Given the description of an element on the screen output the (x, y) to click on. 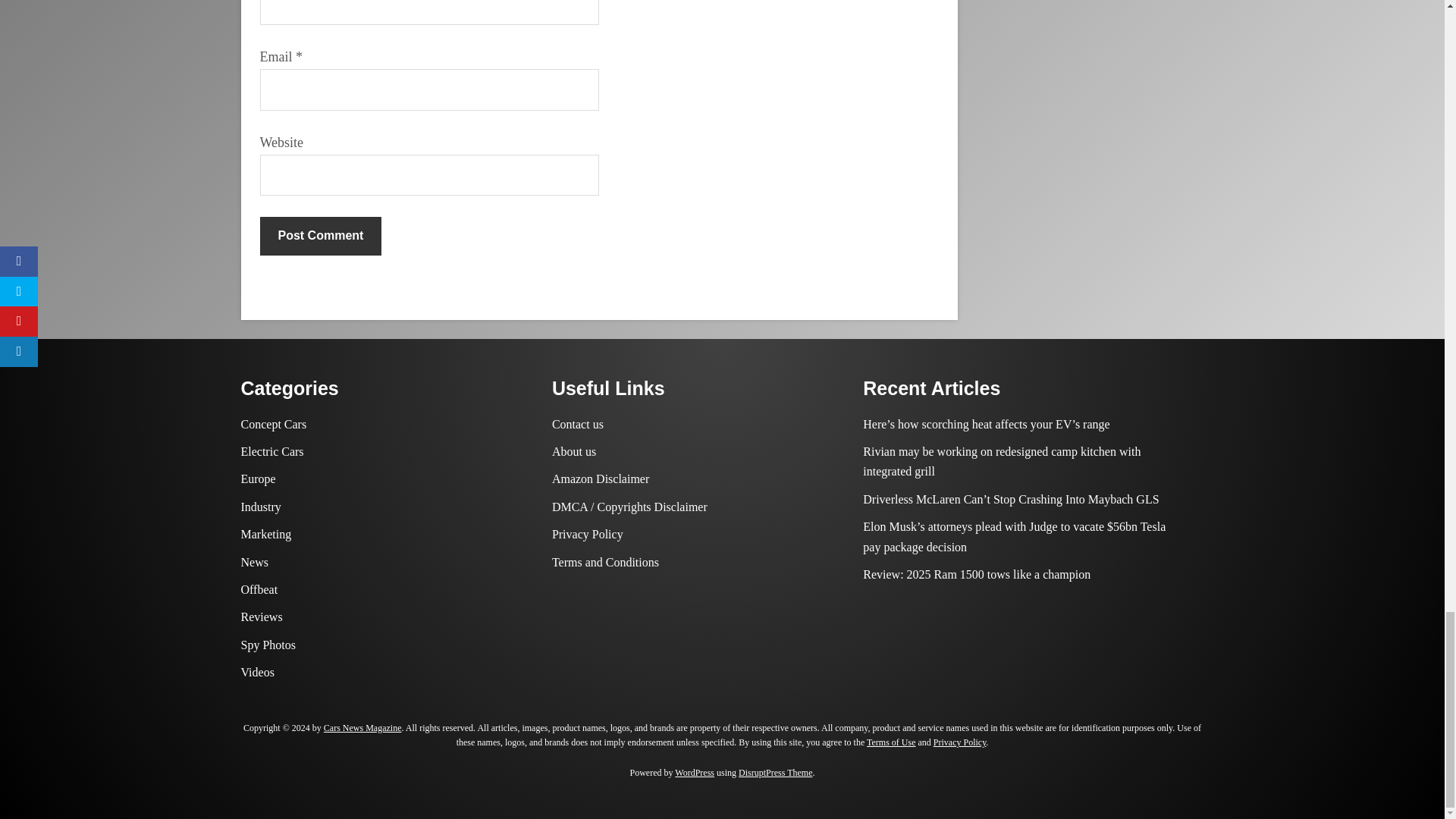
Post Comment (320, 235)
